Given the description of an element on the screen output the (x, y) to click on. 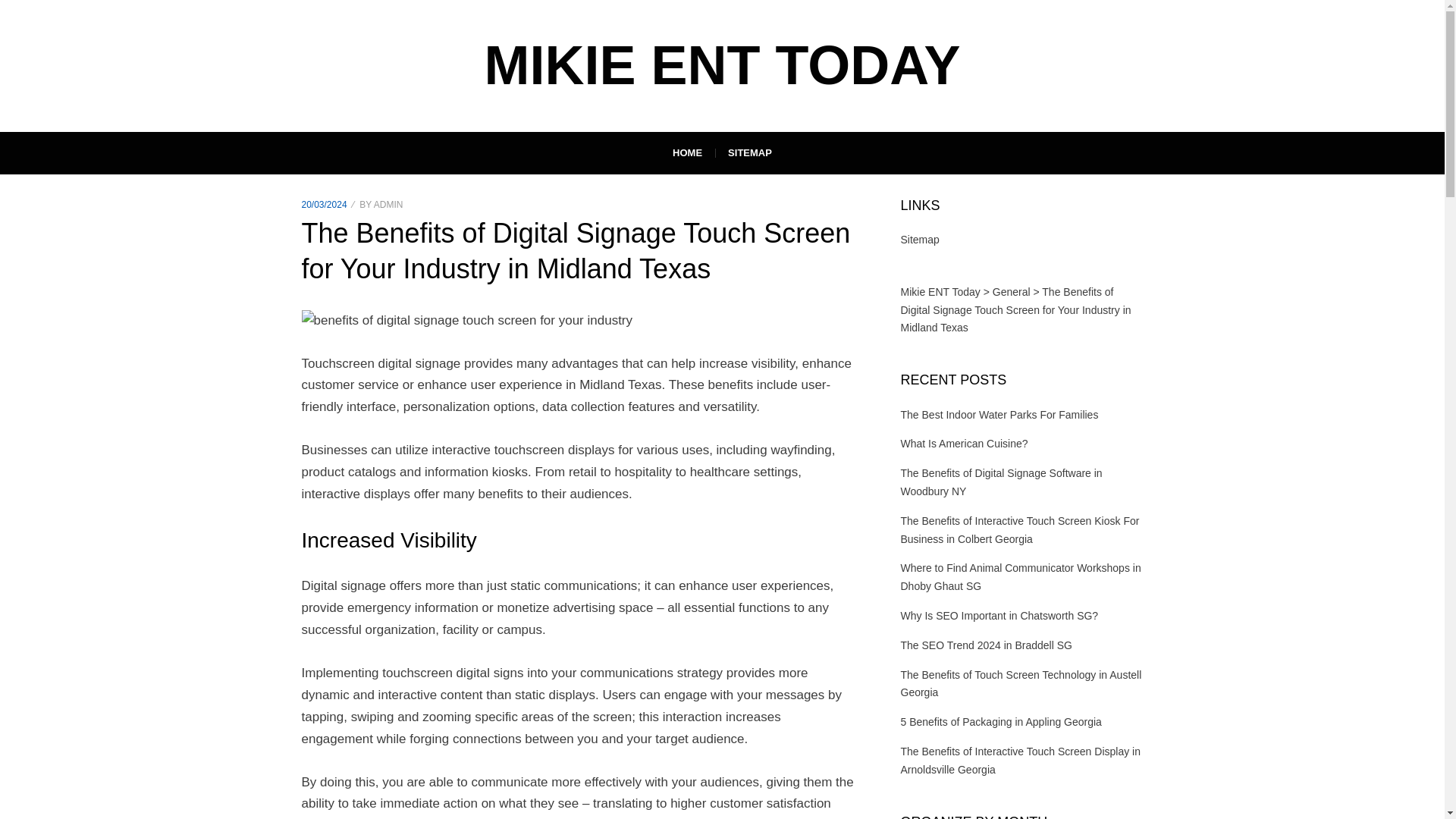
Mikie ENT Today (940, 291)
The Benefits of Digital Signage Software in Woodbury NY (1001, 481)
Mikie ENT Today (721, 65)
MIKIE ENT TODAY (721, 65)
What Is American Cuisine? (964, 443)
General (1011, 291)
The Best Indoor Water Parks For Families (1000, 414)
The Benefits of Touch Screen Technology in Austell Georgia (1021, 684)
